Given the description of an element on the screen output the (x, y) to click on. 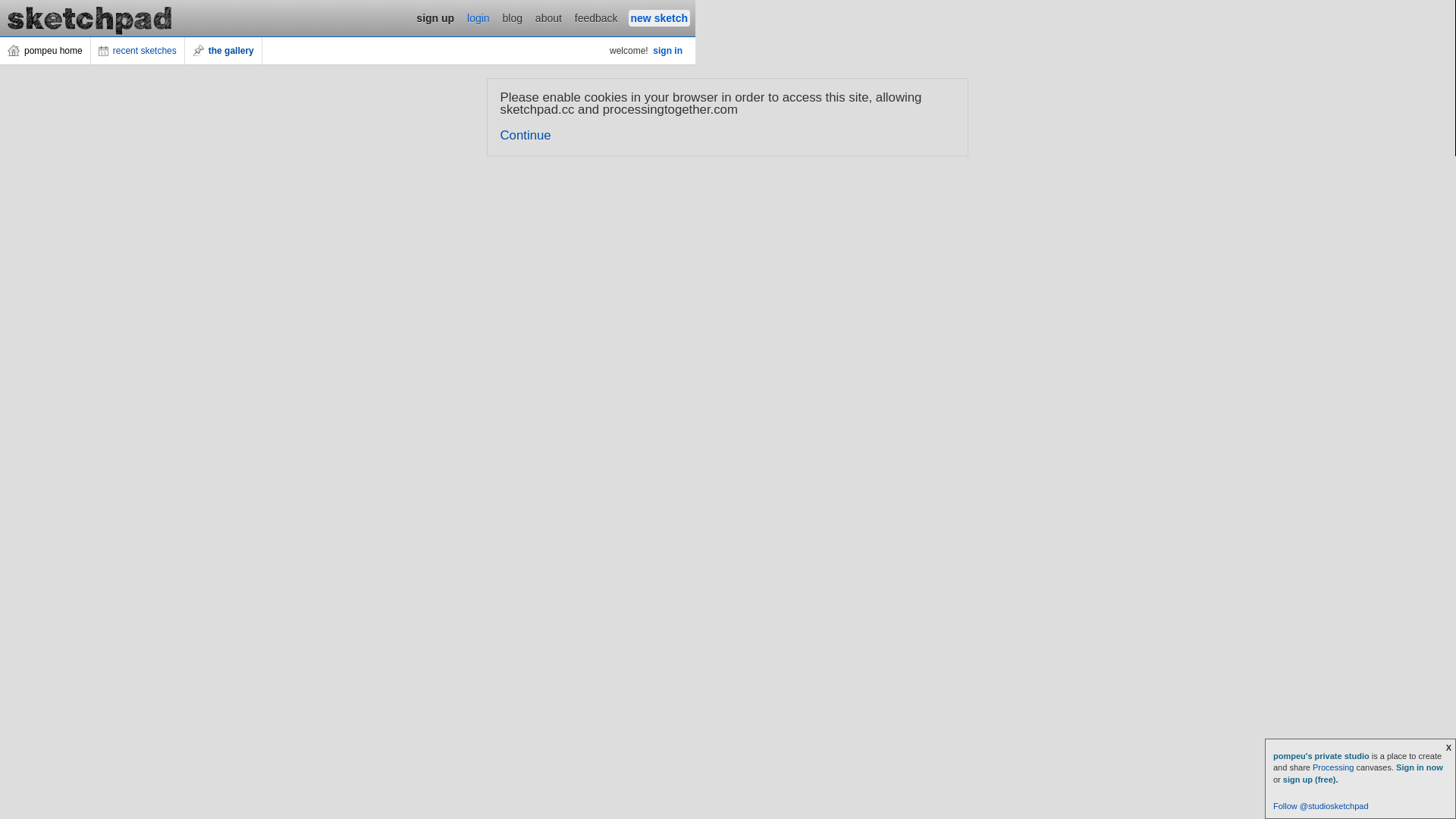
pompeu's private studio Element type: text (1322, 755)
recent sketches Element type: text (138, 50)
Sign in now Element type: text (1419, 766)
feedback Element type: text (596, 17)
sign up Element type: text (435, 17)
new sketch Element type: text (659, 17)
the gallery Element type: text (223, 50)
Processing Element type: text (1332, 766)
pompeu home Element type: text (45, 50)
sign in Element type: text (667, 50)
sign up (free) Element type: text (1309, 779)
blog Element type: text (512, 17)
login Element type: text (478, 17)
Follow @studiosketchpad Element type: text (1320, 805)
about Element type: text (548, 17)
Continue Element type: text (525, 135)
Studio Sketchpad is Processing on Etherpad Element type: hover (90, 18)
